Given the description of an element on the screen output the (x, y) to click on. 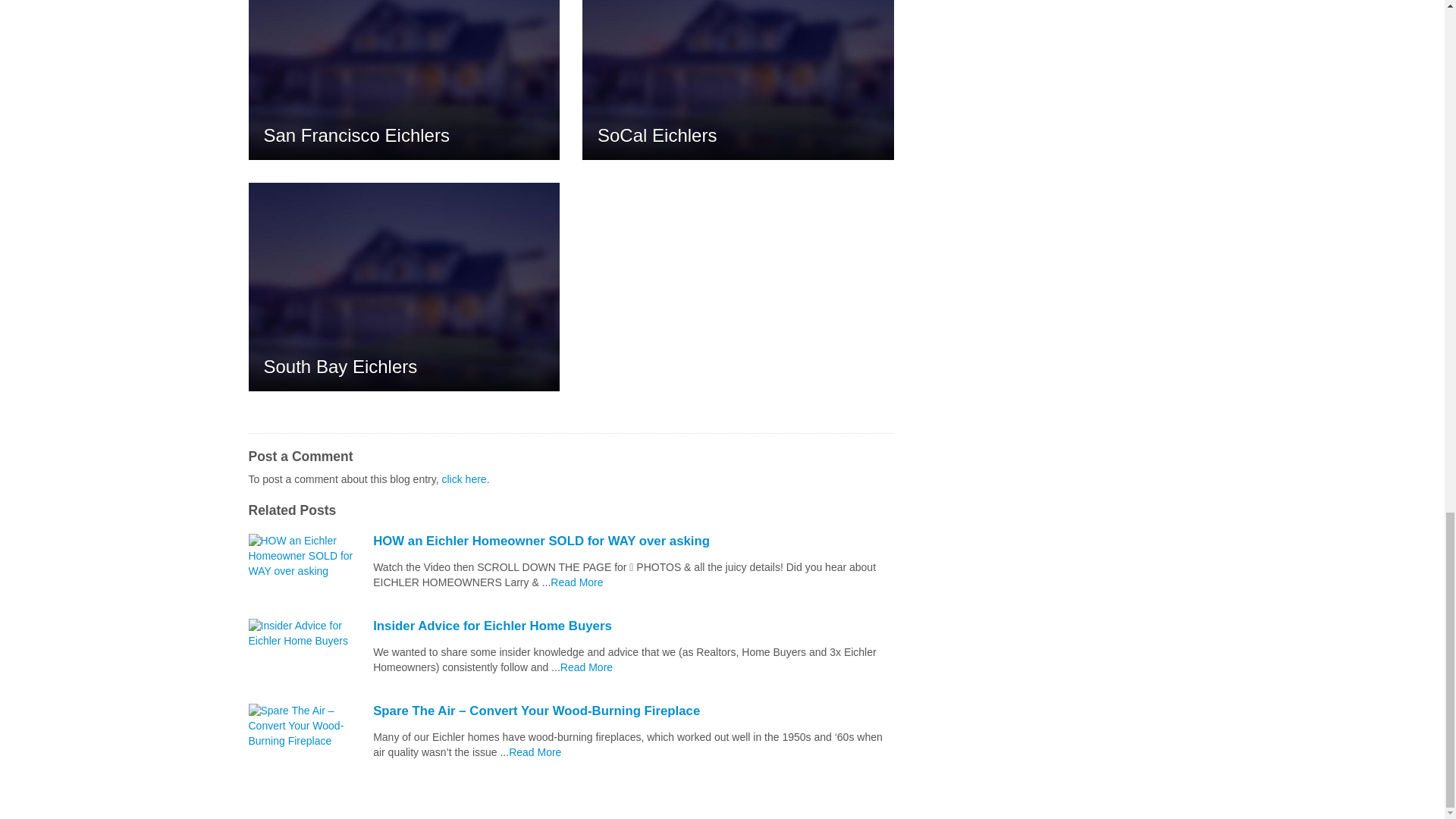
View San Francisco Eichlers (404, 79)
View South Bay Eichlers (404, 286)
How Many Eichler Homes Are There (586, 666)
How Many Eichler Homes Are There (576, 582)
View SoCal Eichlers (737, 79)
HOW an Eichler Homeowner SOLD for WAY over asking (632, 540)
Insider Advice for Eichler Home Buyers  (632, 626)
How Many Eichler Homes Are There (534, 752)
